Given the description of an element on the screen output the (x, y) to click on. 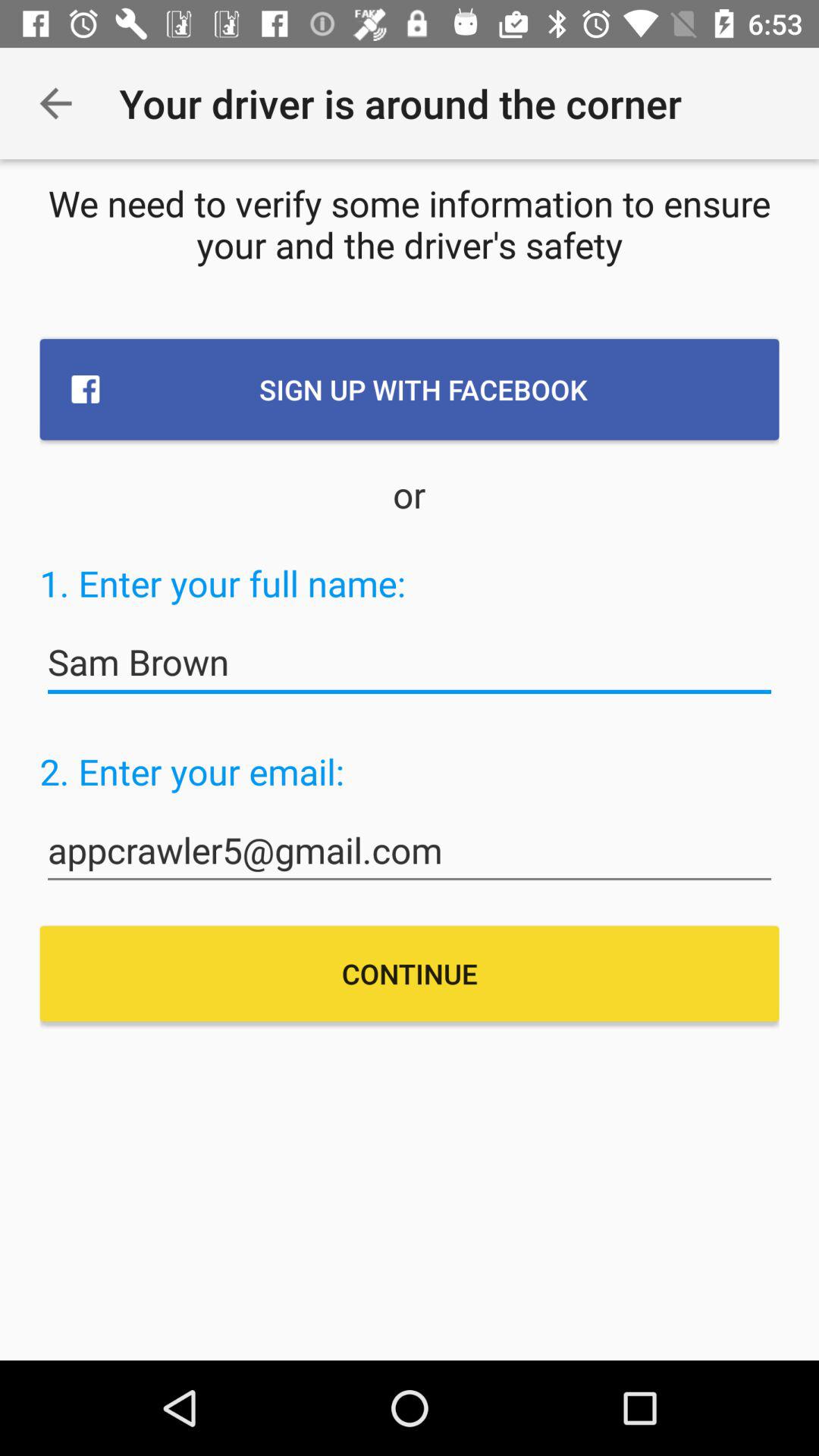
select icon above the or icon (409, 389)
